Given the description of an element on the screen output the (x, y) to click on. 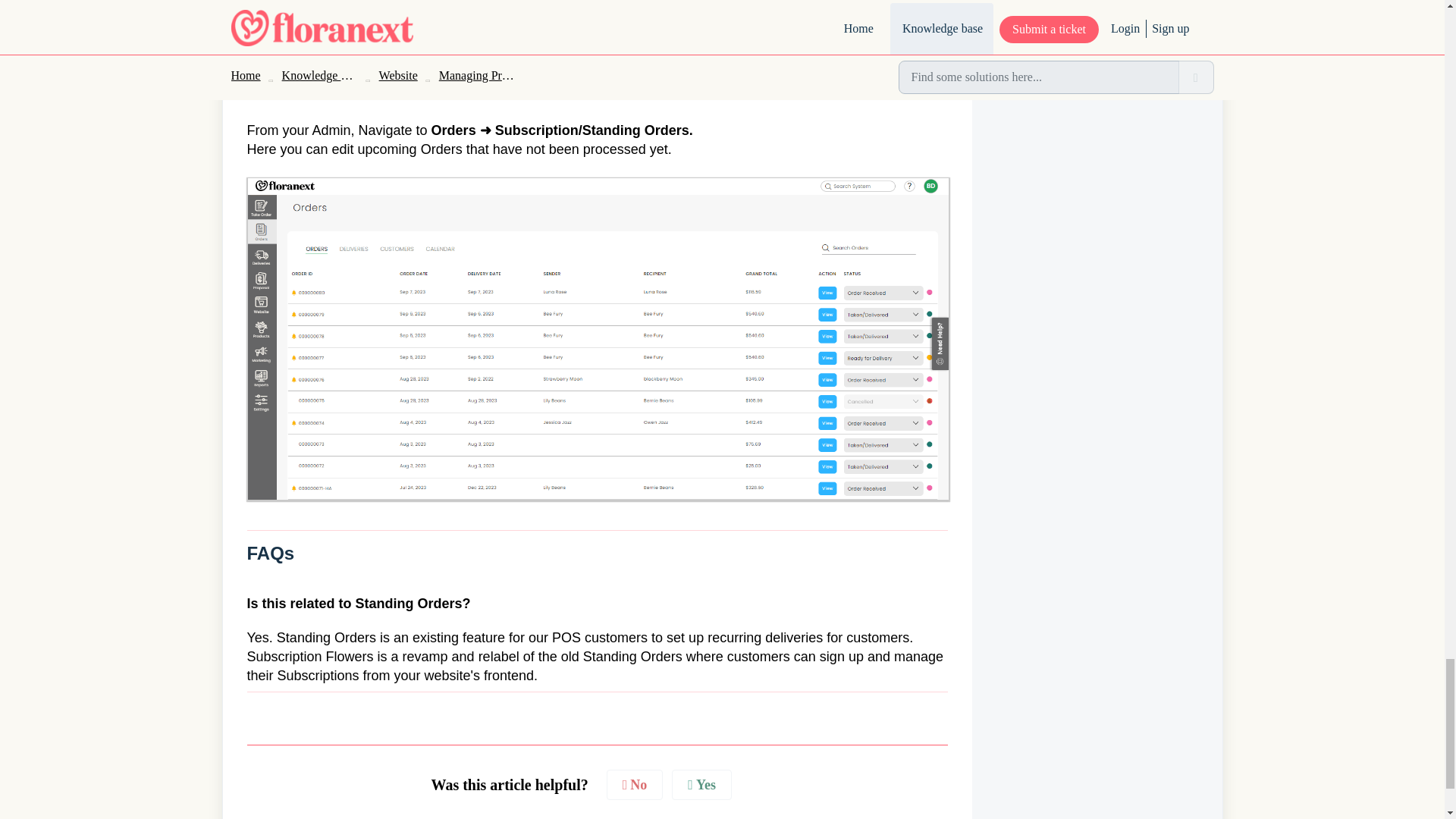
here (549, 3)
